Given the description of an element on the screen output the (x, y) to click on. 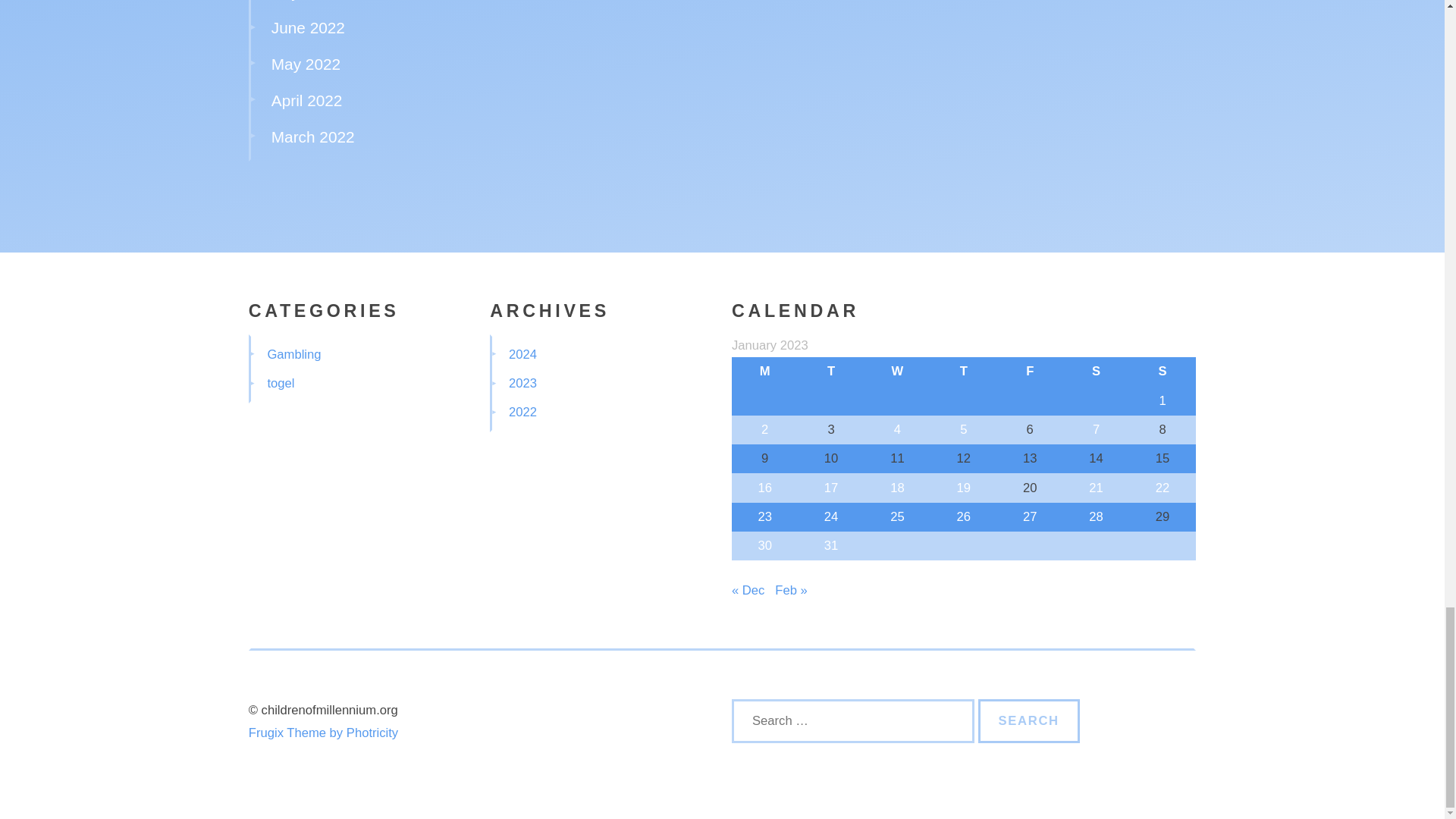
March 2022 (312, 136)
Saturday (1095, 371)
July 2022 (304, 0)
Monday (764, 371)
Thursday (962, 371)
June 2022 (307, 27)
Search (1029, 720)
April 2022 (306, 99)
Sunday (1162, 371)
Search (1029, 720)
Wednesday (897, 371)
Tuesday (830, 371)
May 2022 (305, 63)
Friday (1029, 371)
